Given the description of an element on the screen output the (x, y) to click on. 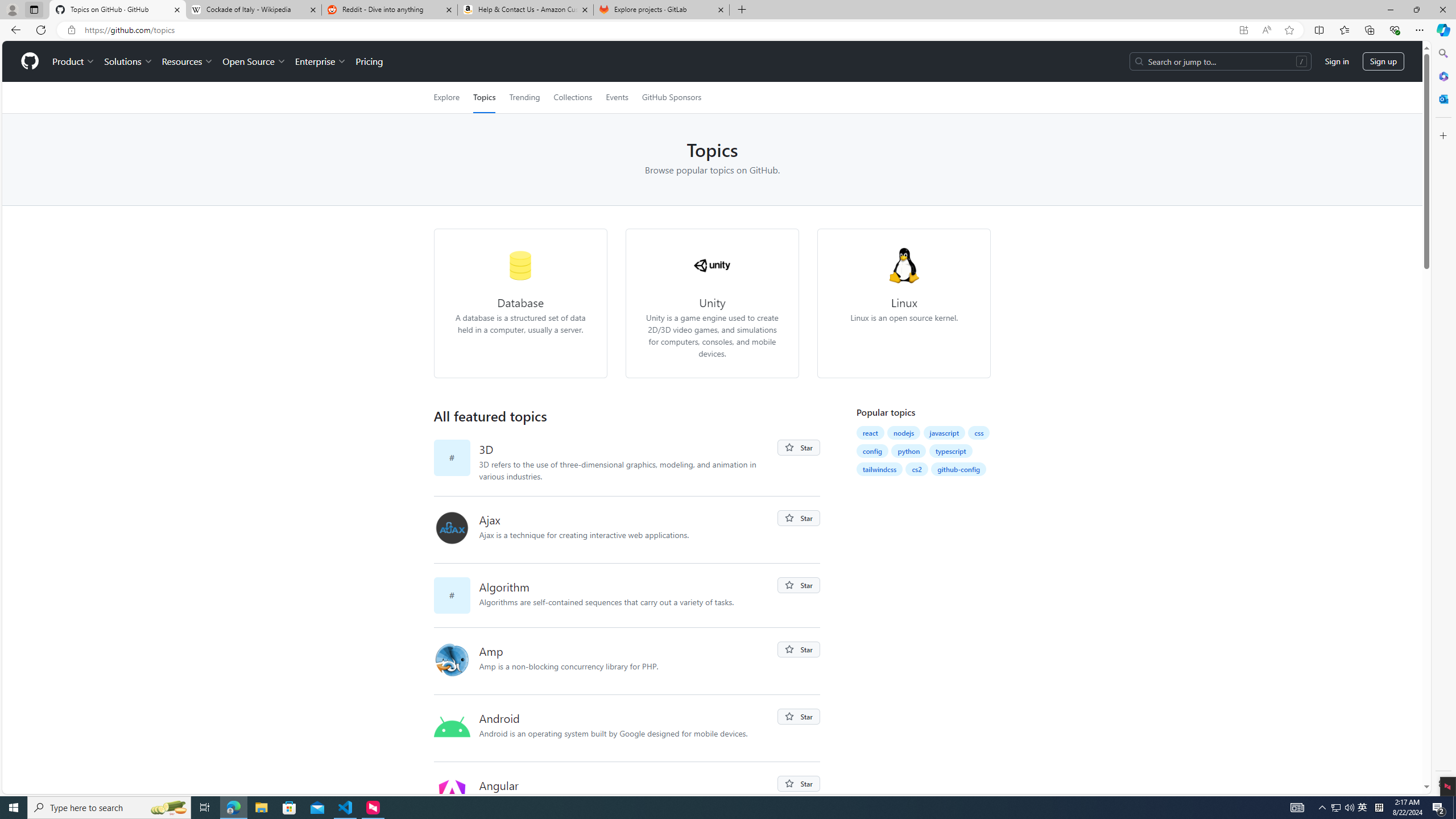
Enterprise (319, 60)
Pricing (368, 60)
Solutions (128, 60)
Open Source (254, 60)
angular (451, 793)
python (908, 450)
android (451, 726)
Angular Angular is an open source web application platform. (628, 794)
